Given the description of an element on the screen output the (x, y) to click on. 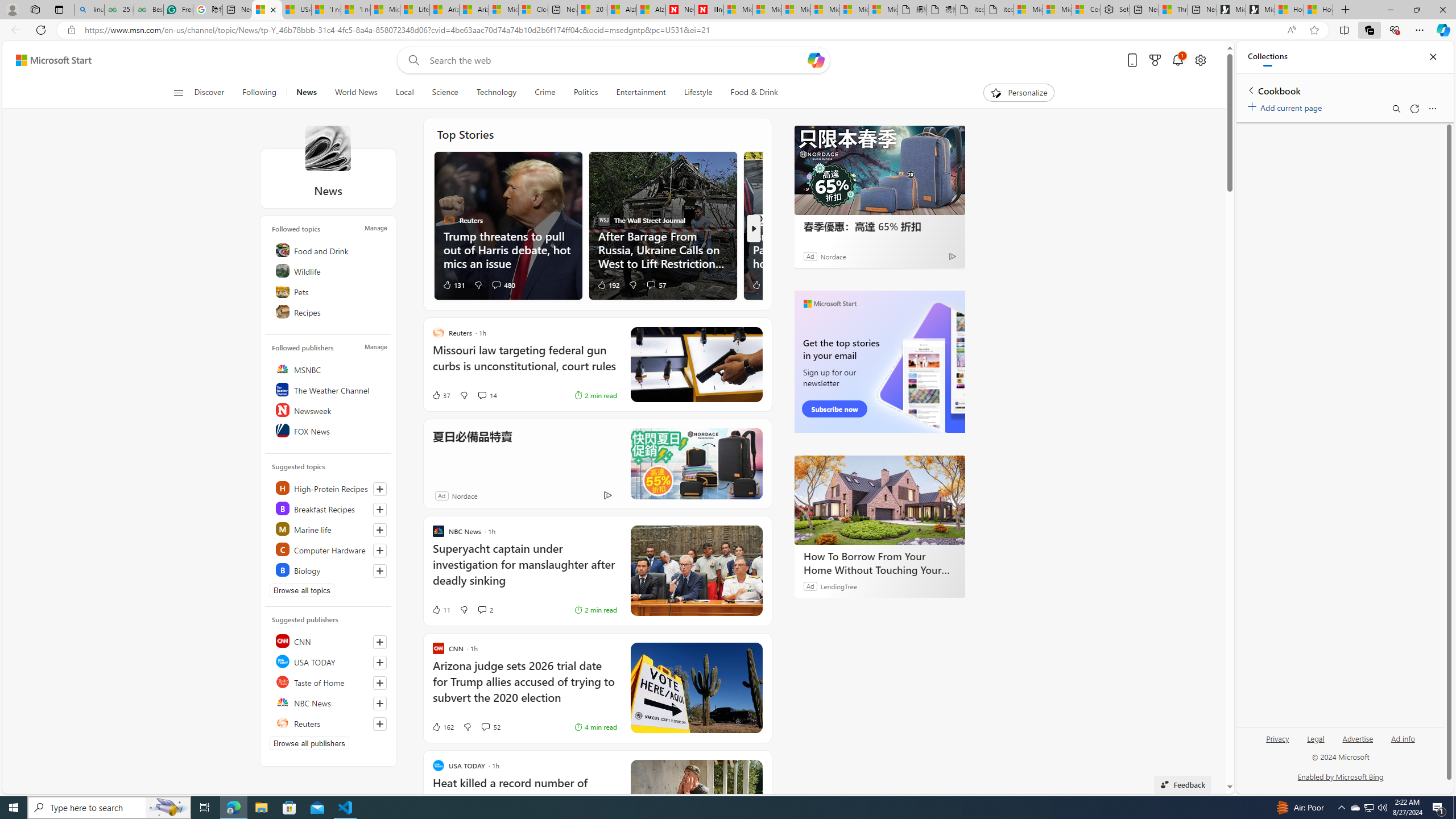
Follow this topic (379, 571)
Free AI Writing Assistance for Students | Grammarly (178, 9)
Three Ways To Stop Sweating So Much (1173, 9)
View comments 52 Comment (490, 726)
